Given the description of an element on the screen output the (x, y) to click on. 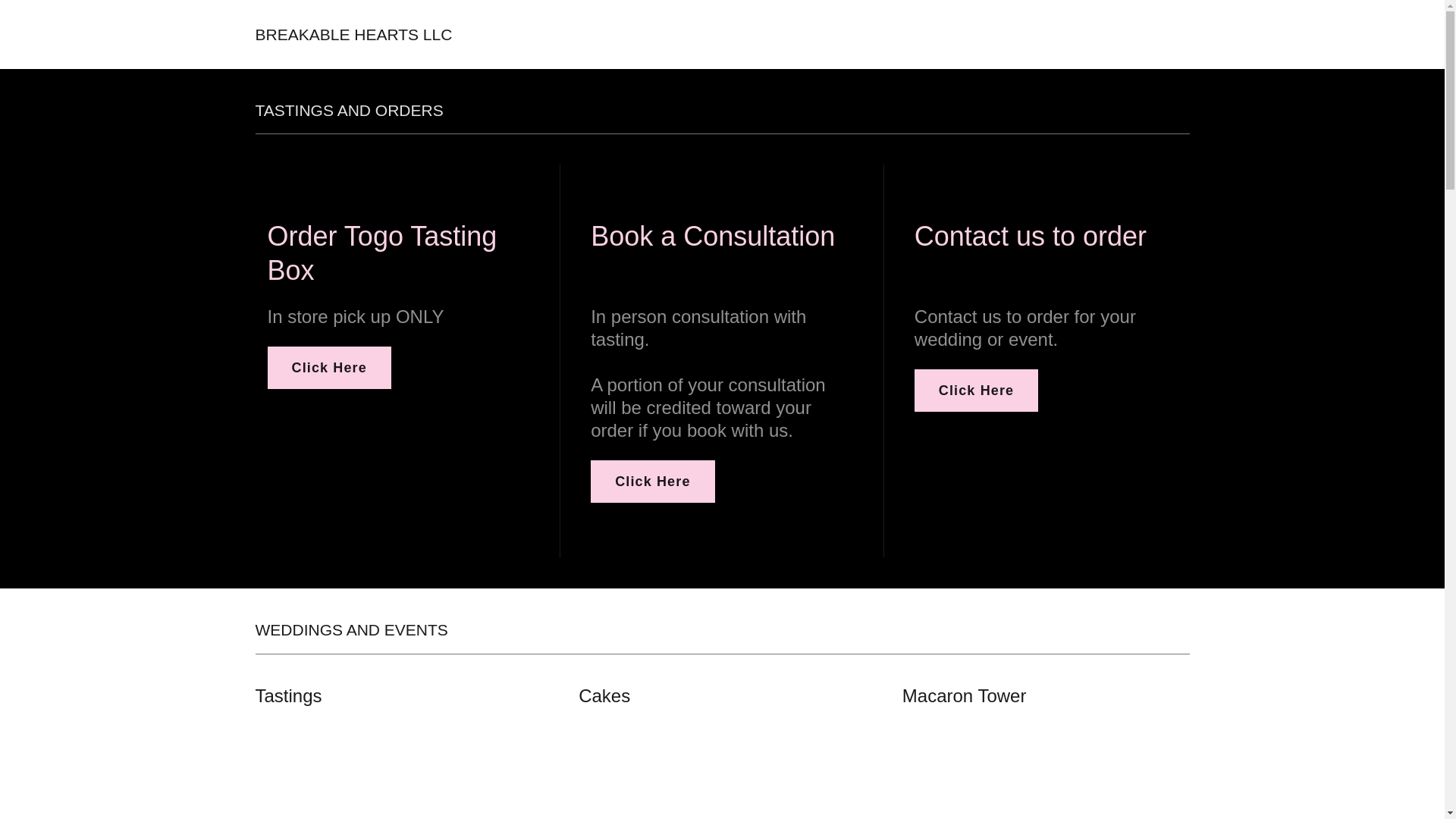
BREAKABLE HEARTS LLC (352, 35)
Click Here (328, 367)
Click Here (976, 390)
Click Here (652, 481)
Breakable Hearts LLC (352, 35)
